Given the description of an element on the screen output the (x, y) to click on. 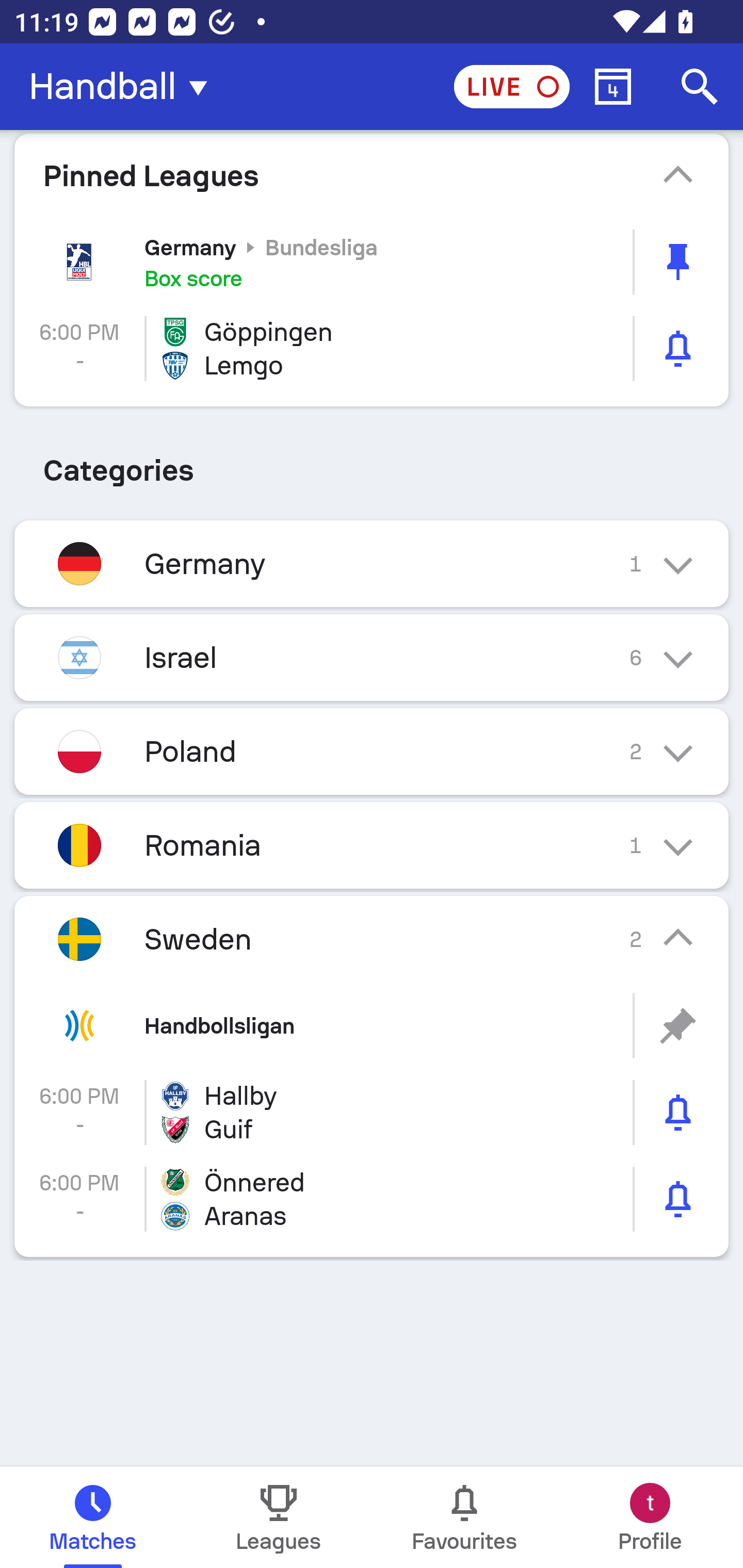
Handball (124, 86)
Calendar (612, 86)
Search (699, 86)
Pinned Leagues (371, 175)
Germany Bundesliga Box score (371, 261)
6:00 PM - Göppingen Lemgo (371, 348)
Categories (371, 463)
Germany 1 (371, 563)
Israel 6 (371, 657)
Poland 2 (371, 751)
Romania 1 (371, 845)
Sweden 2 (371, 939)
Handbollsligan (371, 1026)
6:00 PM - Hallby Guif (371, 1112)
6:00 PM - Önnered Aranas (371, 1198)
Leagues (278, 1517)
Favourites (464, 1517)
Profile (650, 1517)
